Given the description of an element on the screen output the (x, y) to click on. 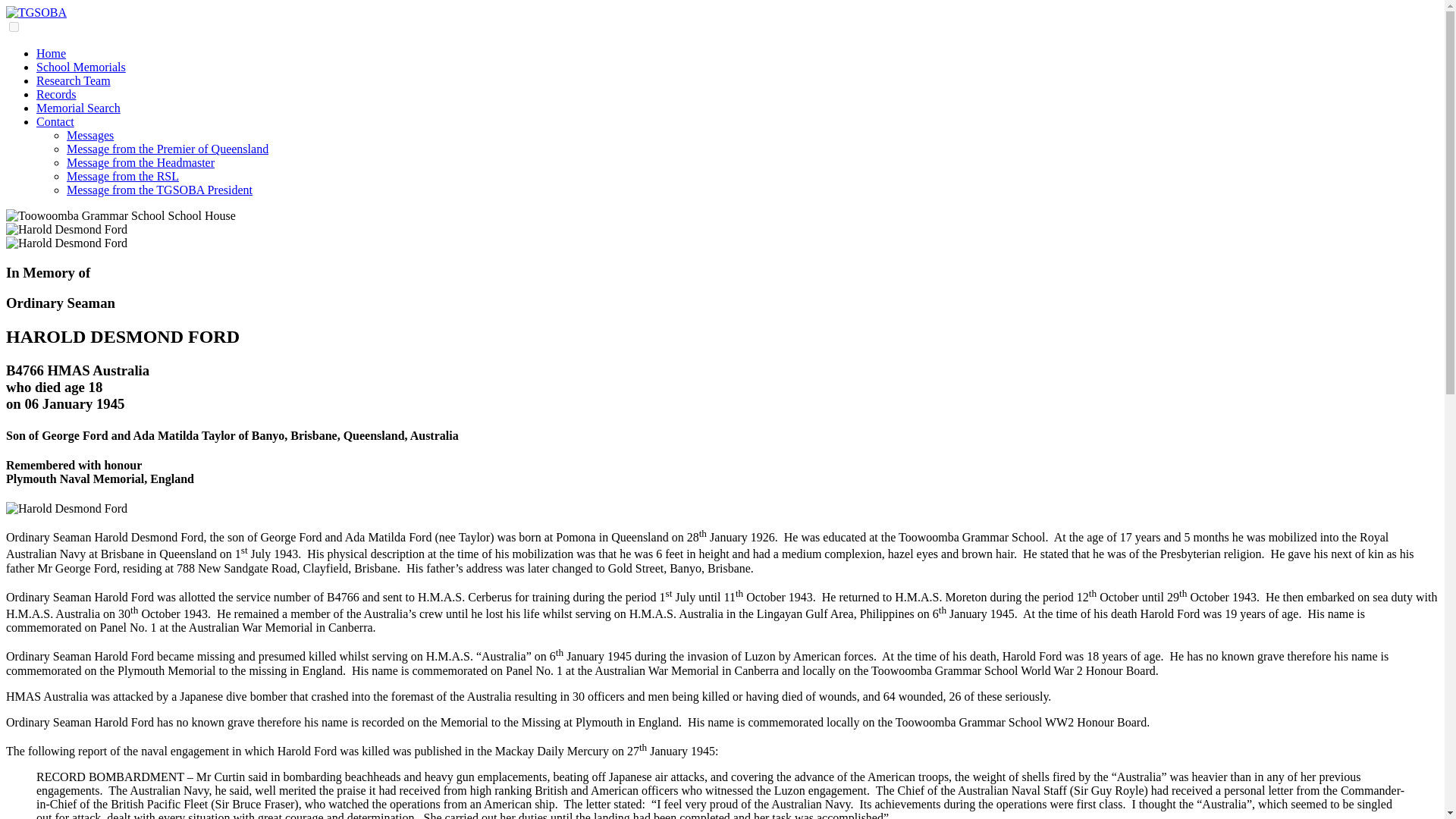
Research Team (73, 80)
on (13, 26)
Home (50, 52)
Records (55, 93)
Contact (55, 121)
Memorial Search (78, 107)
Message from the TGSOBA President (158, 189)
Message from the Headmaster (140, 162)
Message from the RSL (122, 175)
School Memorials (80, 66)
Message from the Premier of Queensland (166, 148)
Messages (89, 134)
